Given the description of an element on the screen output the (x, y) to click on. 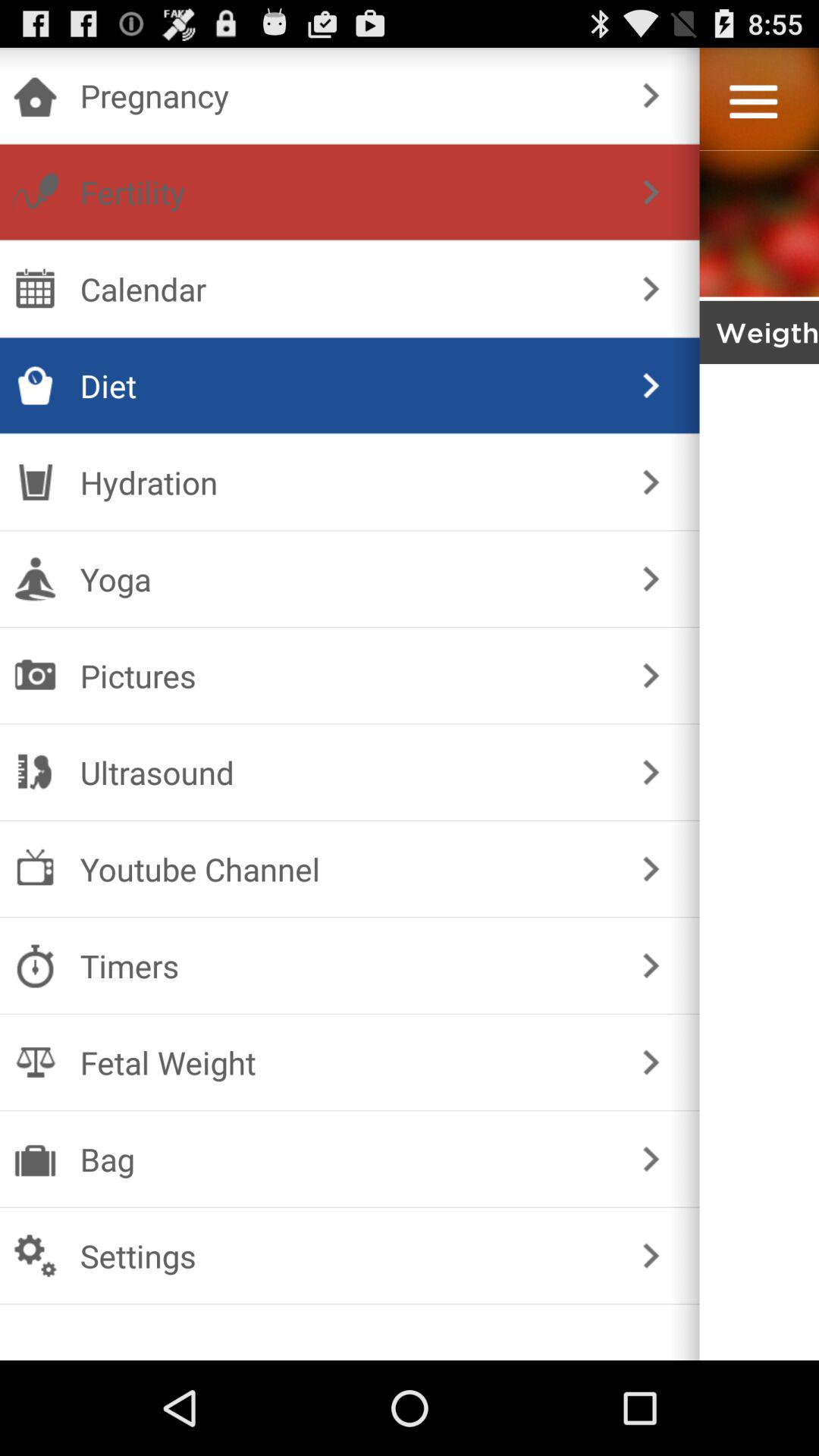
turn off the item above the yoga checkbox (651, 481)
